Given the description of an element on the screen output the (x, y) to click on. 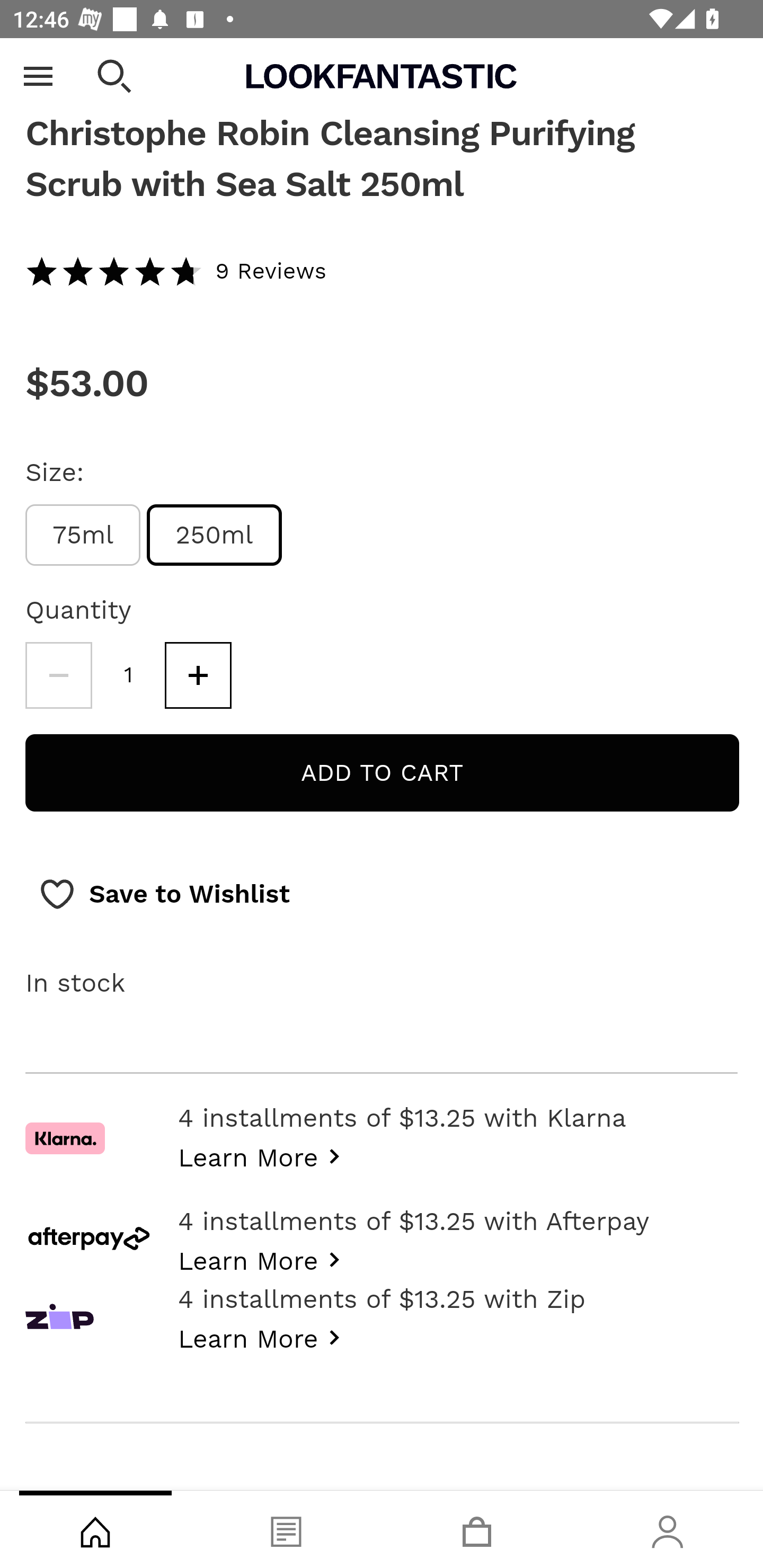
Christophe Robin (381, 67)
75ml (83, 535)
250ml selected (214, 535)
Decrease quantity (58, 675)
1, Quantity (128, 675)
Increase quantity (197, 675)
Add to cart (382, 773)
Save to Wishlist (164, 895)
Learn More about klarna_slice (263, 1156)
Learn More about afterpay (263, 1259)
Learn More about quadpay (263, 1337)
Shop, tab, 1 of 4 (95, 1529)
Blog, tab, 2 of 4 (285, 1529)
Basket, tab, 3 of 4 (476, 1529)
Account, tab, 4 of 4 (667, 1529)
